Given the description of an element on the screen output the (x, y) to click on. 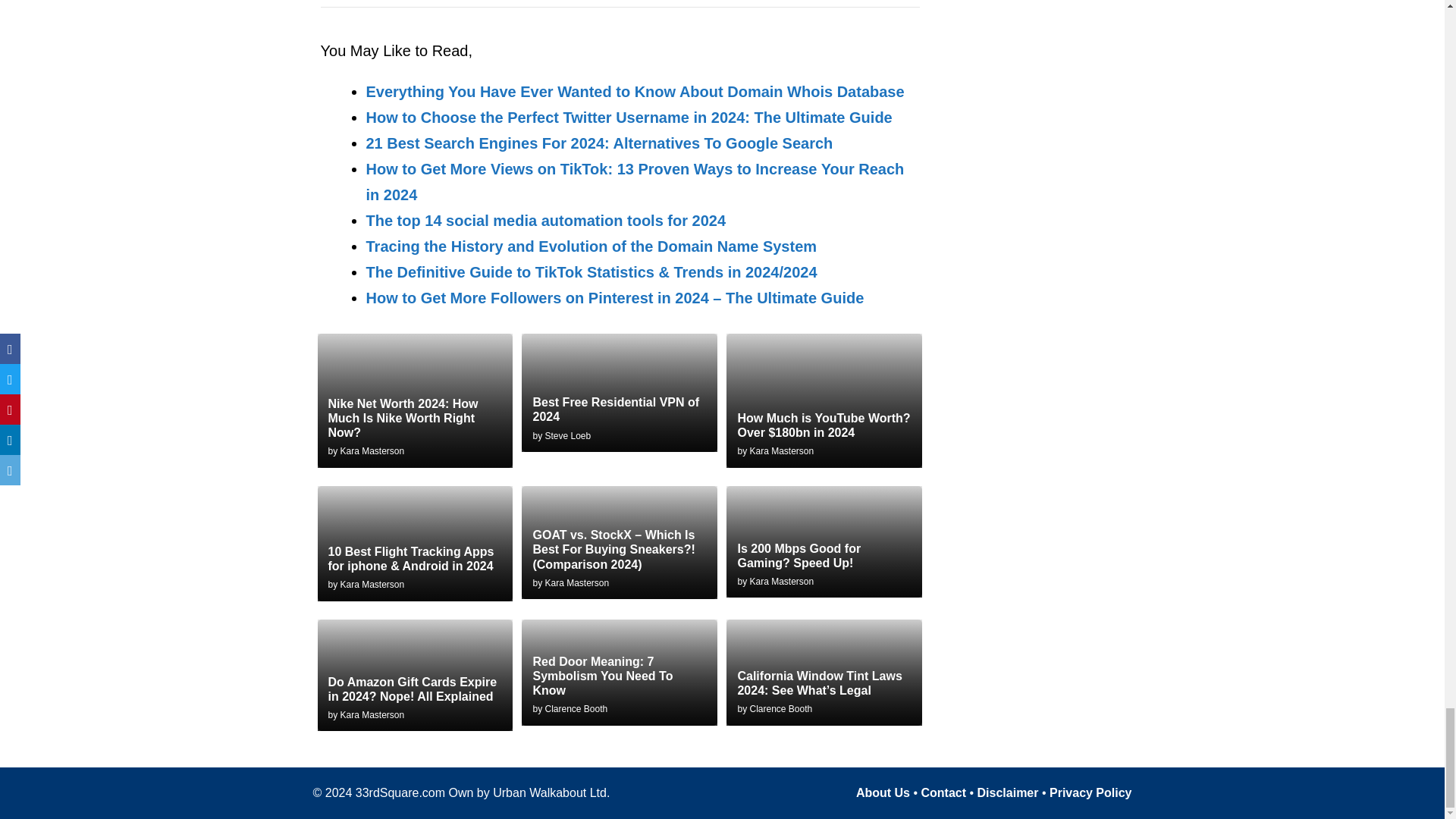
The top 14 social media automation tools for 2024 (545, 220)
Tracing the History and Evolution of the Domain Name System (590, 246)
